Given the description of an element on the screen output the (x, y) to click on. 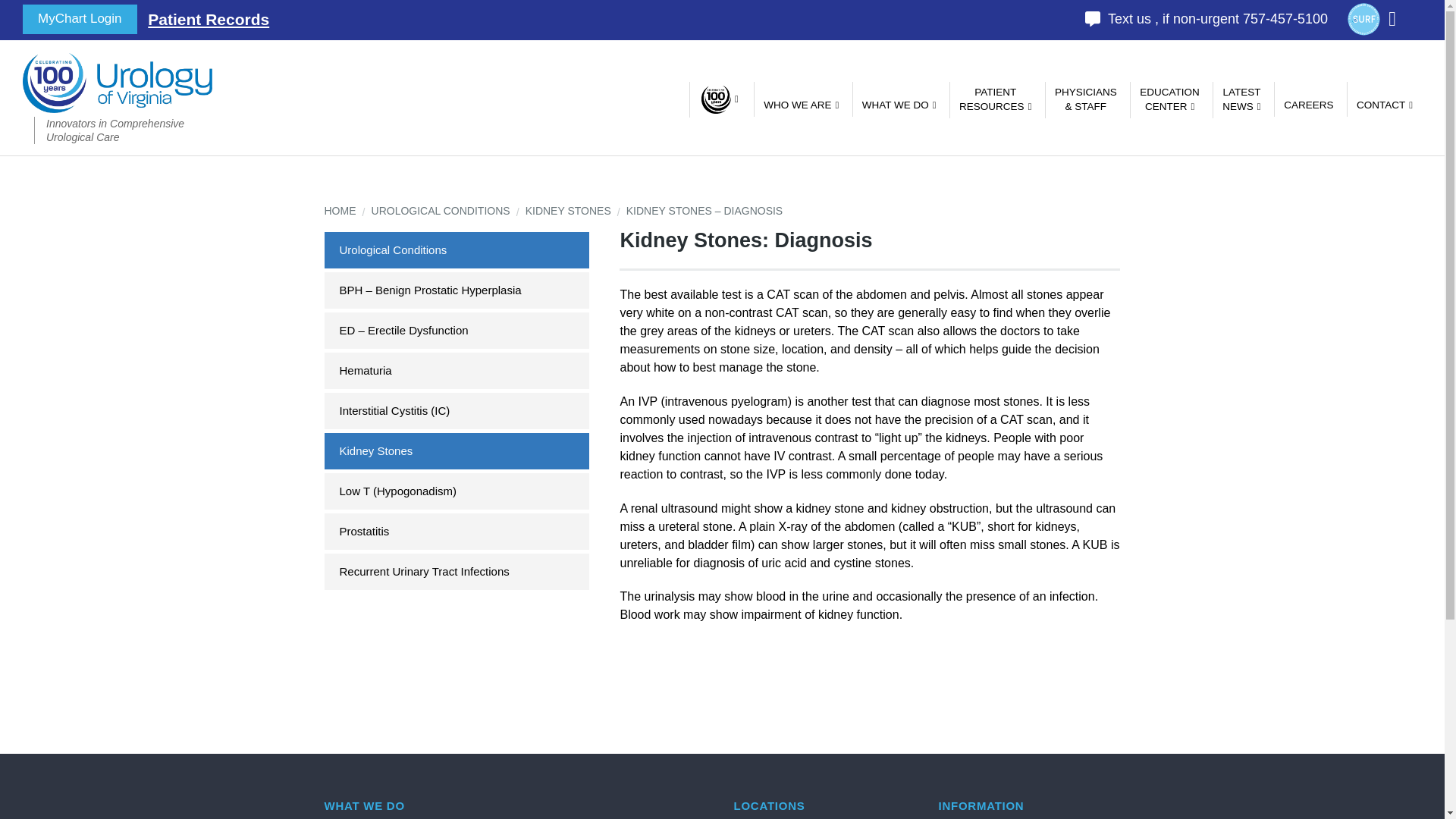
Patient Records (208, 19)
WHAT WE DO (995, 99)
MyChart Login (897, 99)
WHO WE ARE (79, 19)
